Given the description of an element on the screen output the (x, y) to click on. 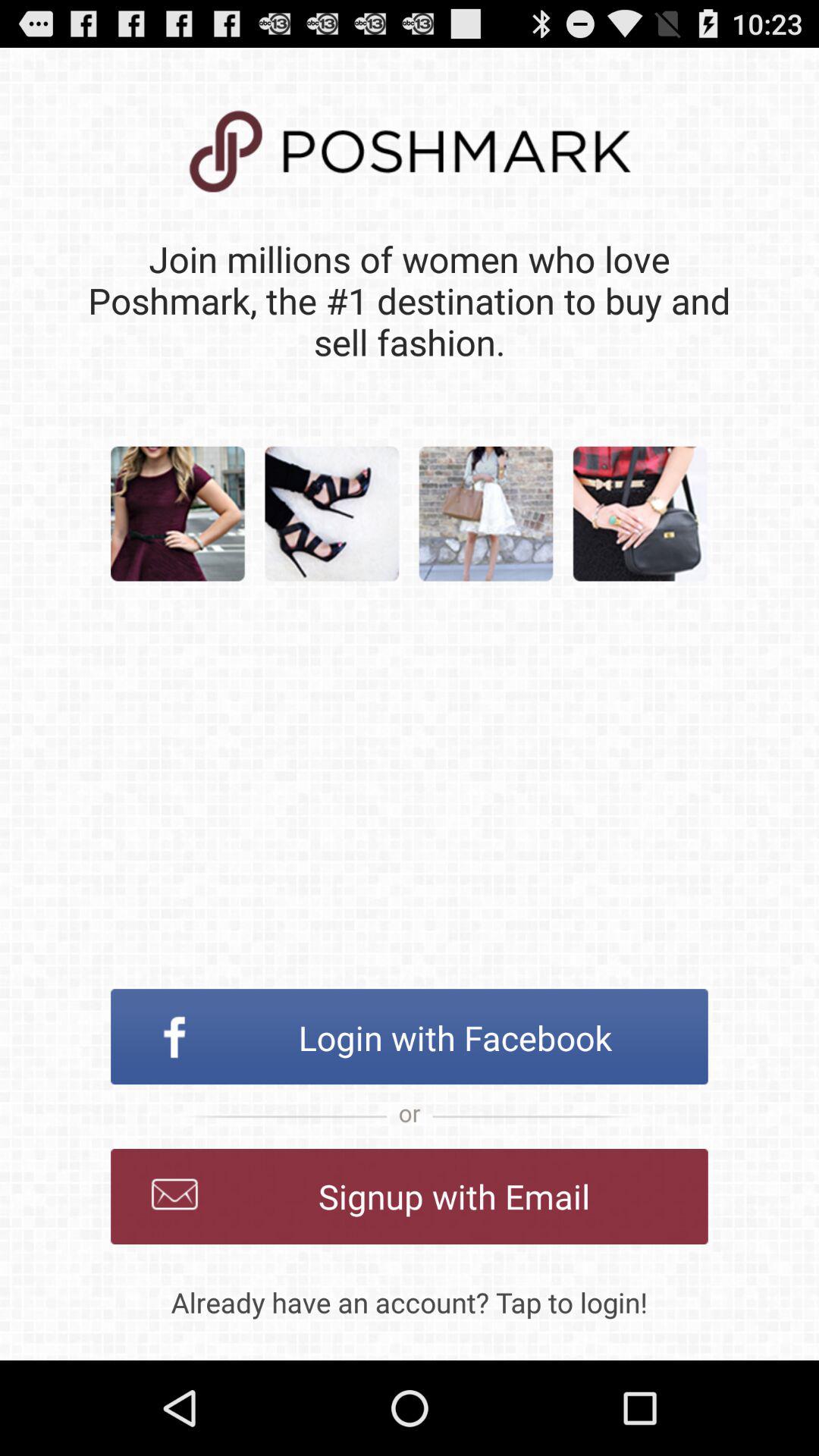
swipe to the already have an icon (409, 1302)
